Given the description of an element on the screen output the (x, y) to click on. 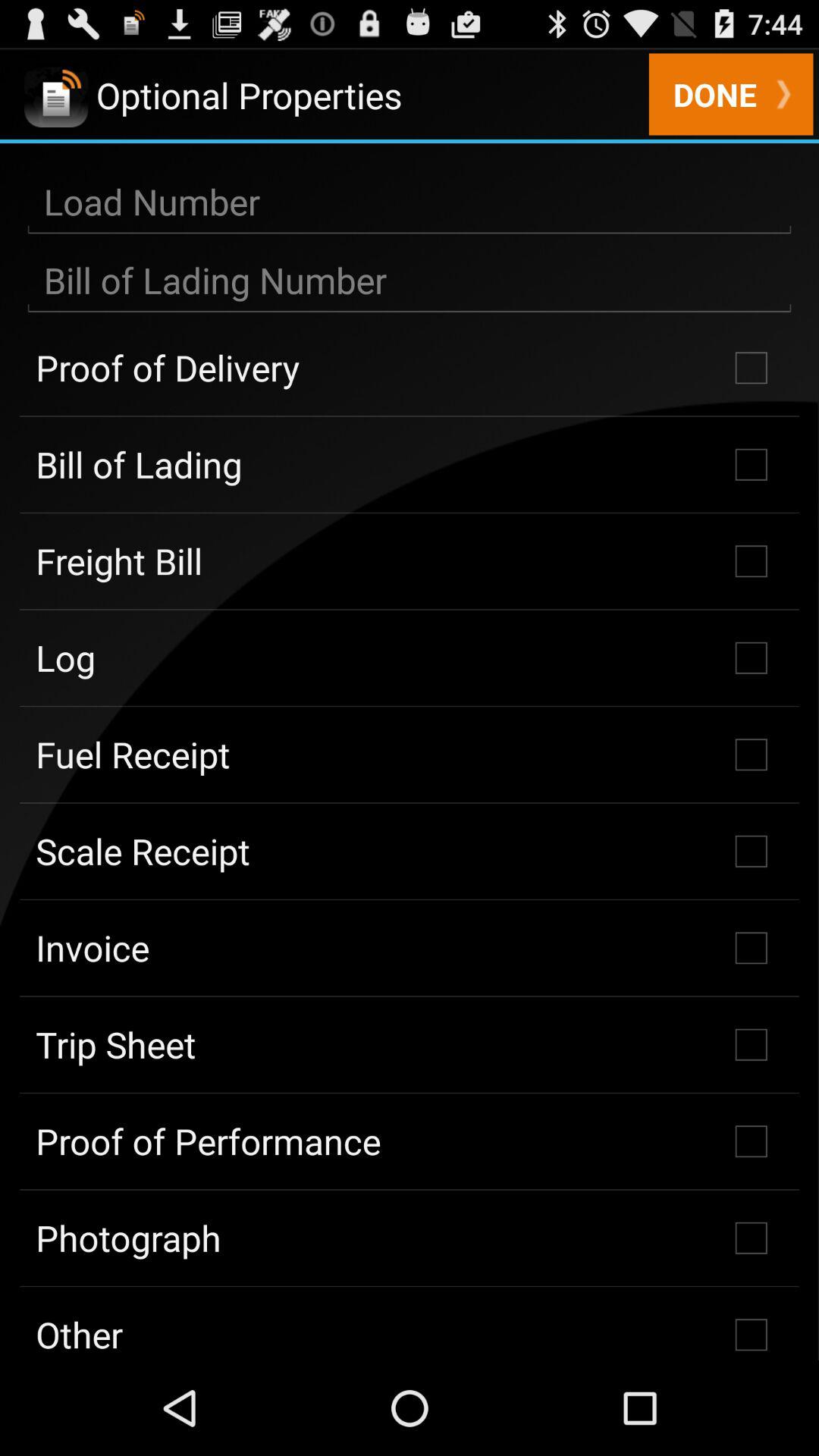
insert number (409, 280)
